Given the description of an element on the screen output the (x, y) to click on. 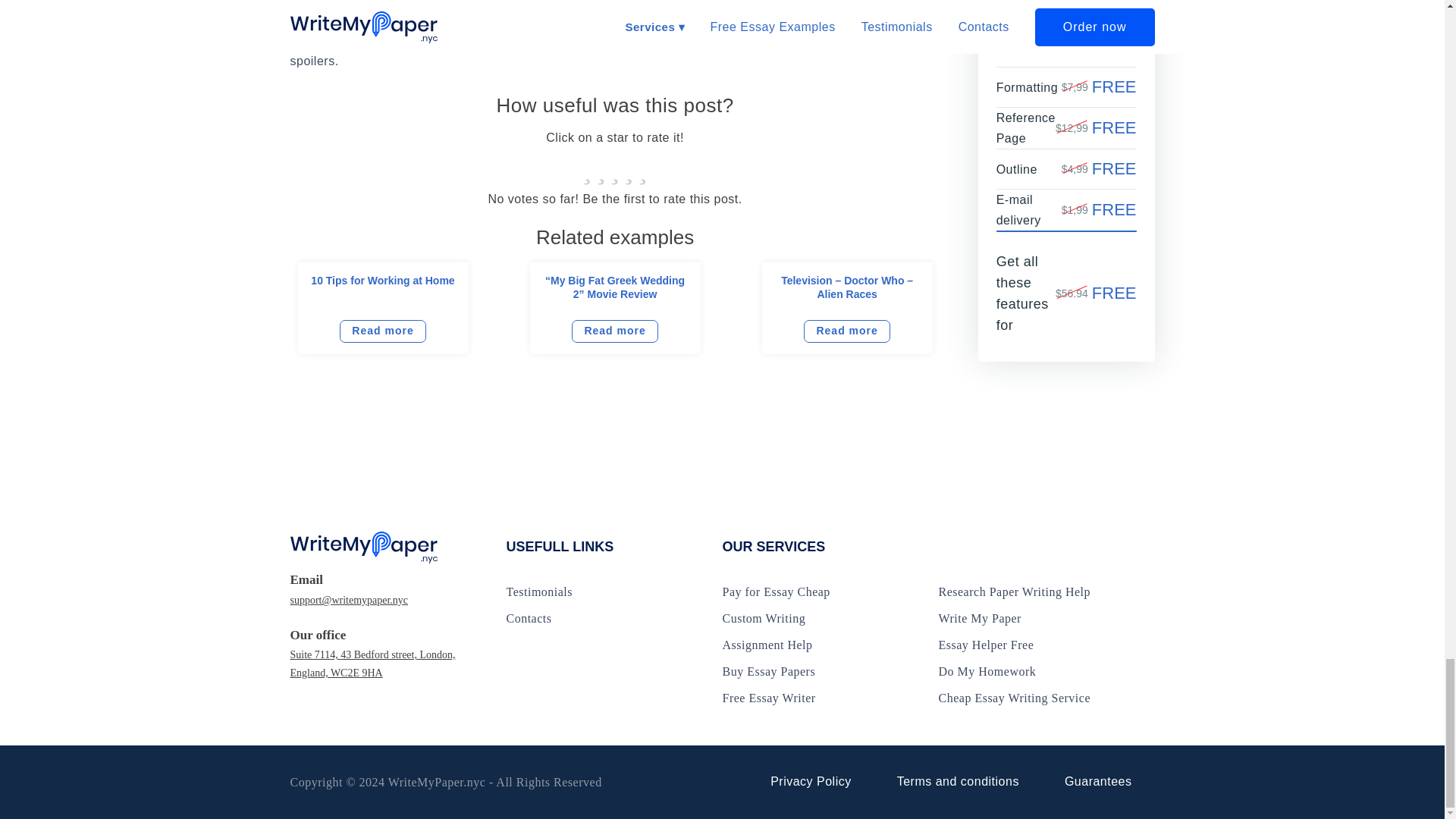
Pay for Essay Cheap (775, 591)
Do My Homework (987, 671)
Buy Essay Papers (768, 671)
Assignment Help (767, 644)
Testimonials (539, 591)
Free Essay Writer (768, 697)
10 Tips for Working at Home (382, 280)
Read more (846, 331)
Privacy Policy (810, 780)
Essay Helper Free (986, 644)
